Given the description of an element on the screen output the (x, y) to click on. 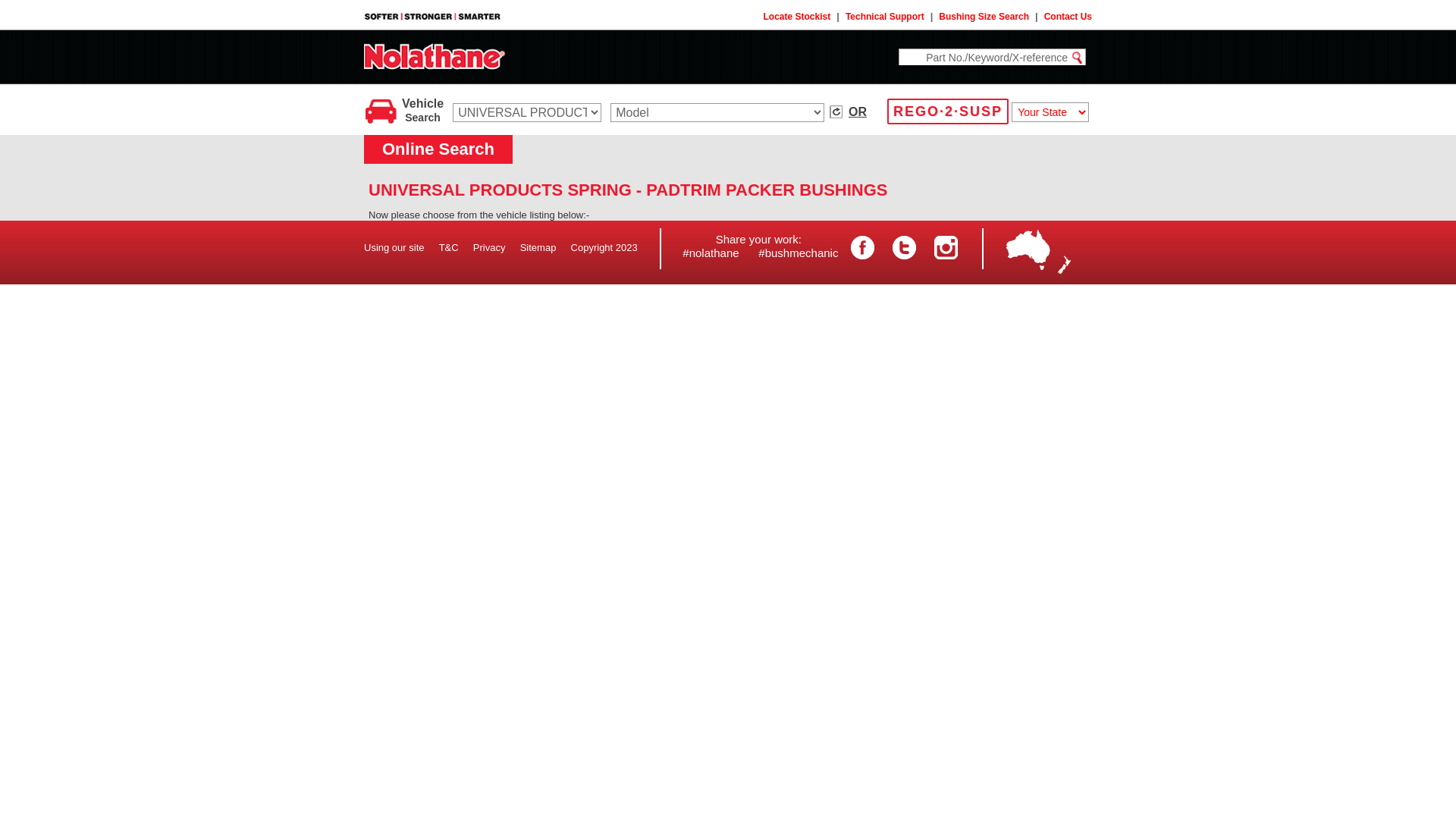
Bushing Size Search Element type: text (983, 16)
Contact Us Element type: text (1068, 16)
Privacy Element type: text (489, 247)
Part No./Keyword/X-reference Element type: text (983, 56)
Locate Stockist Element type: text (797, 16)
T&C Element type: text (448, 247)
Using our site Element type: text (393, 247)
Technical Support Element type: text (884, 16)
S Element type: text (719, 238)
Sitemap Element type: text (538, 247)
Copyright 2023 Element type: text (604, 247)
